Given the description of an element on the screen output the (x, y) to click on. 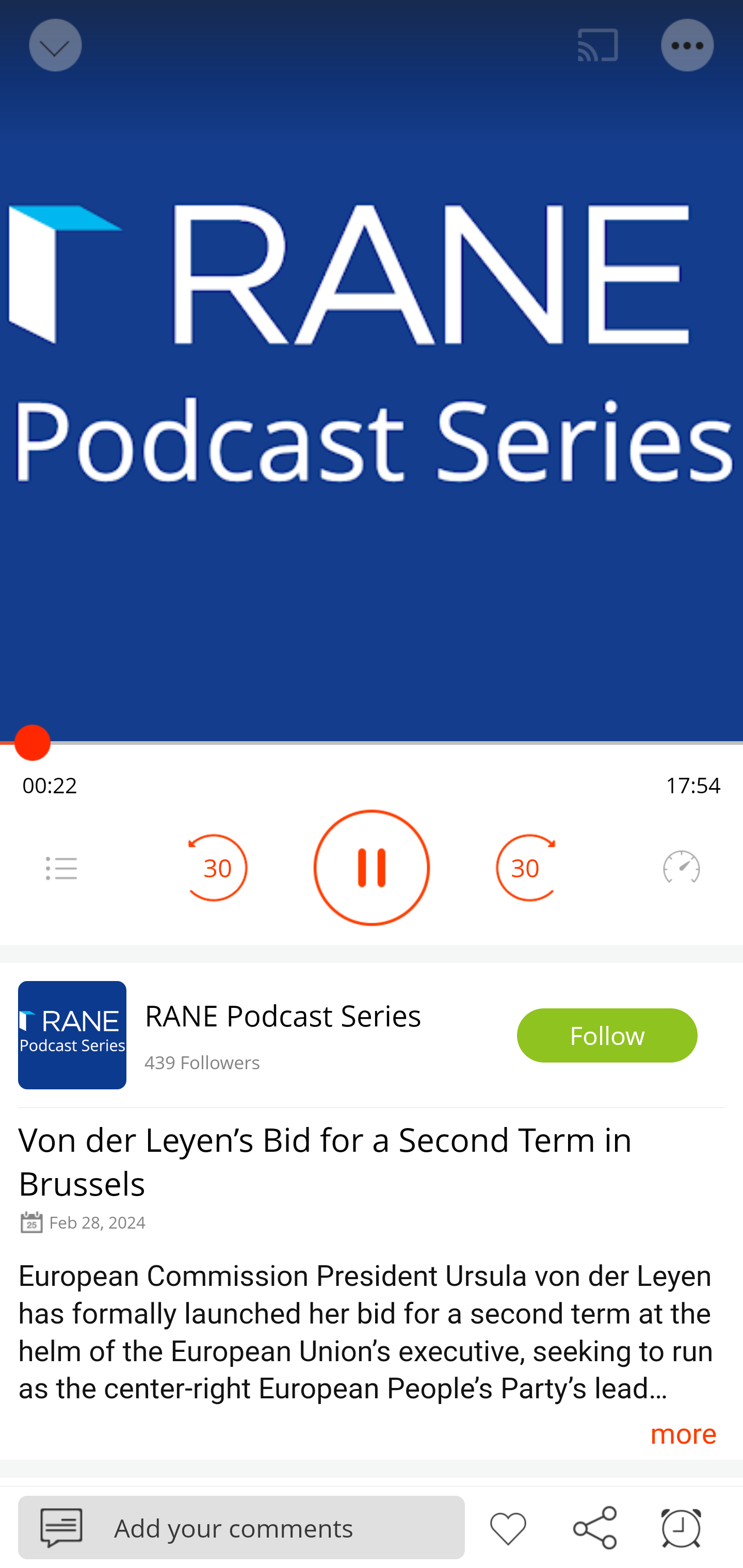
Back (53, 45)
Cast. Disconnected (597, 45)
Menu (688, 45)
Play (371, 867)
30 Seek Backward (217, 867)
30 Seek Forward (525, 867)
Menu (60, 867)
Speedometer (681, 867)
RANE Podcast Series 439 Followers Follow (371, 1034)
Follow (607, 1035)
more (682, 1432)
Like (508, 1526)
Share (594, 1526)
Sleep timer (681, 1526)
Podbean Add your comments (241, 1526)
